Given the description of an element on the screen output the (x, y) to click on. 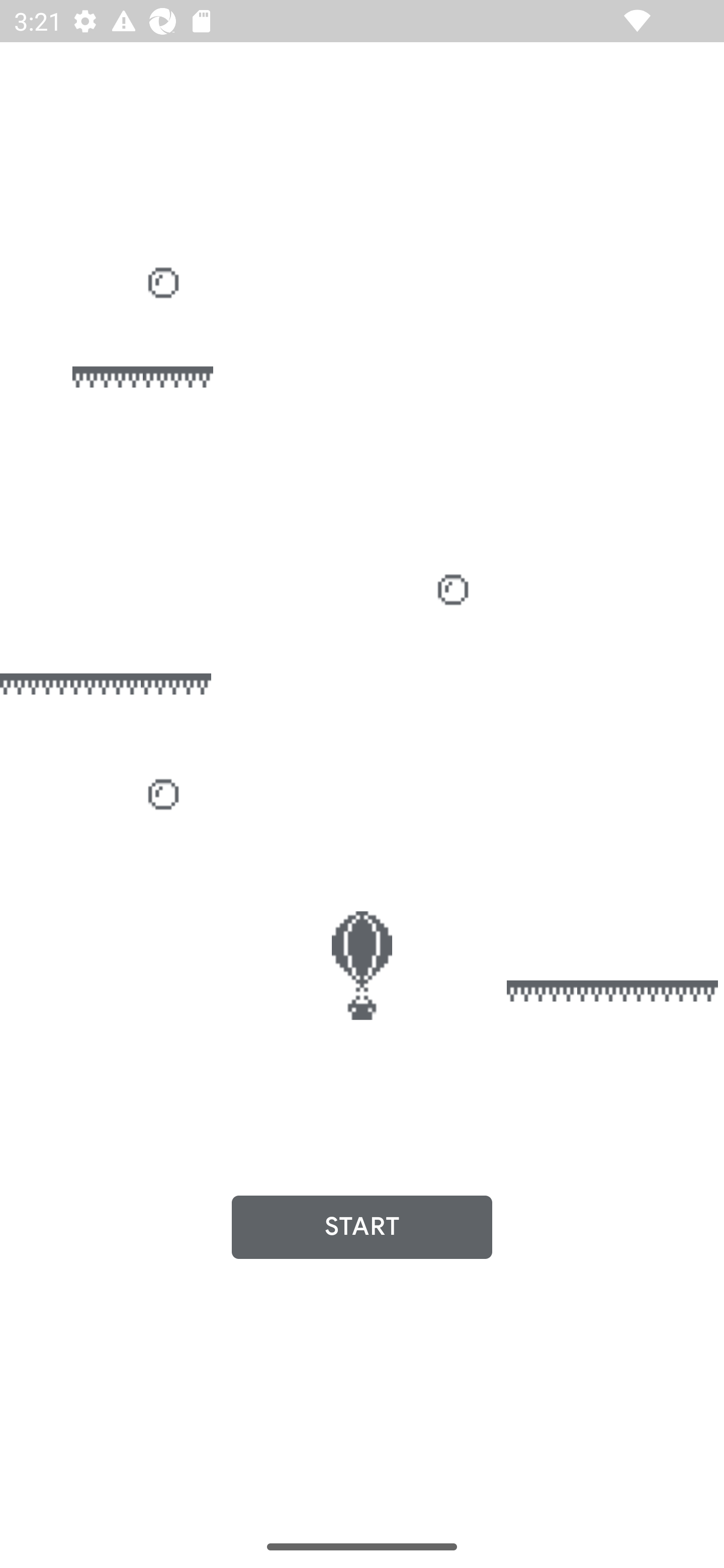
START (361, 1227)
